Given the description of an element on the screen output the (x, y) to click on. 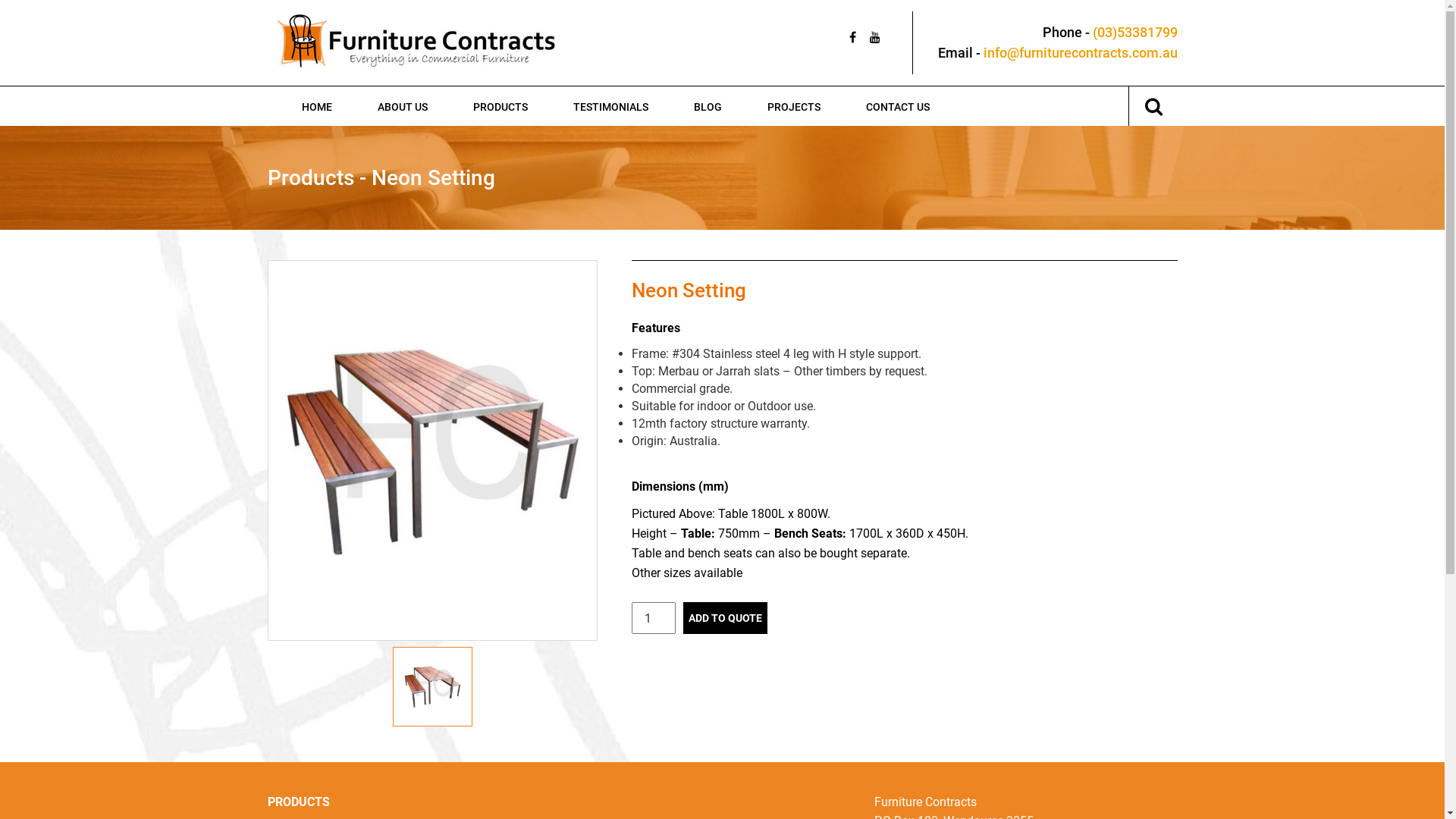
HOME Element type: text (316, 104)
TESTIMONIALS Element type: text (610, 104)
CONTACT US Element type: text (897, 104)
BLOG Element type: text (706, 104)
ABOUT US Element type: text (402, 104)
ADD TO QUOTE Element type: text (725, 617)
PRODUCTS Element type: text (500, 104)
info@furniturecontracts.com.au Element type: text (1079, 52)
PROJECTS Element type: text (793, 104)
(03)53381799 Element type: text (1134, 32)
Qty Element type: hover (652, 617)
